Given the description of an element on the screen output the (x, y) to click on. 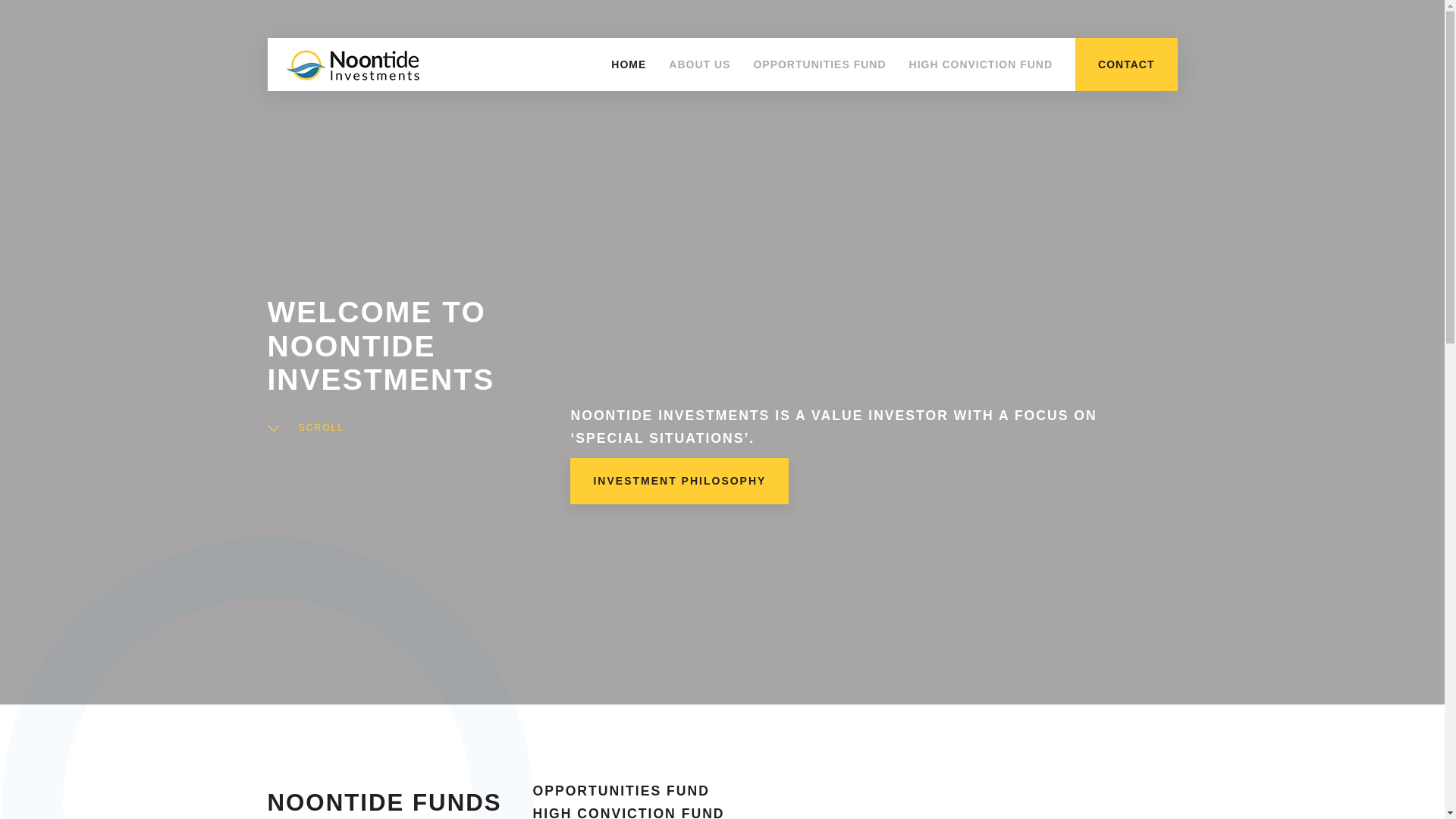
SCROLL Element type: text (304, 427)
ABOUT US Element type: text (699, 64)
HOME Element type: text (628, 64)
CONTACT Element type: text (1125, 64)
HIGH CONVICTION FUND Element type: text (981, 64)
INVESTMENT PHILOSOPHY Element type: text (679, 481)
OPPORTUNITIES FUND Element type: text (628, 791)
OPPORTUNITIES FUND Element type: text (819, 64)
